Given the description of an element on the screen output the (x, y) to click on. 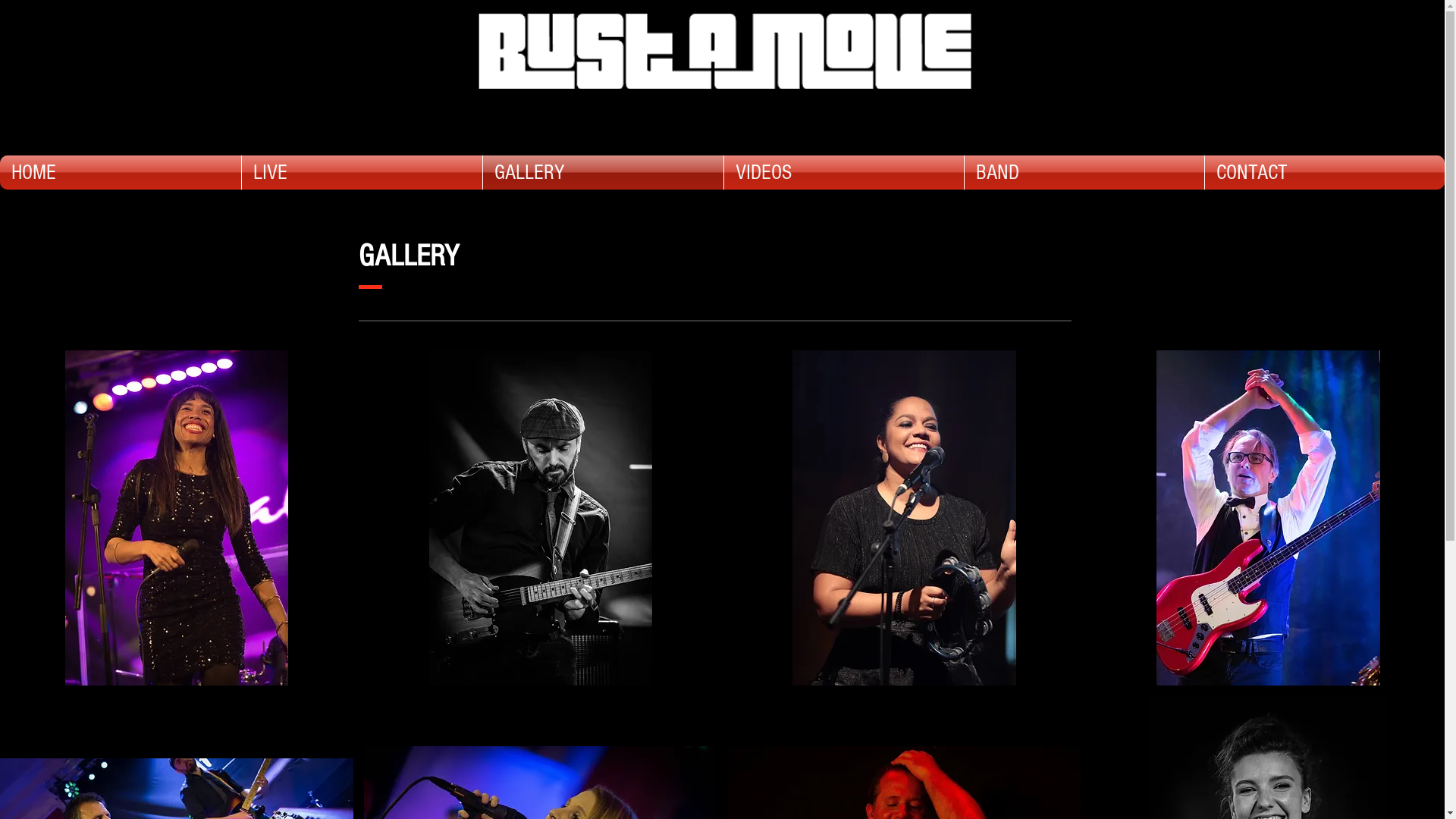
GALLERY Element type: text (603, 172)
VIDEOS Element type: text (843, 172)
CONTACT Element type: text (1324, 172)
BAND Element type: text (1084, 172)
LIVE Element type: text (361, 172)
HOME Element type: text (120, 172)
